Given the description of an element on the screen output the (x, y) to click on. 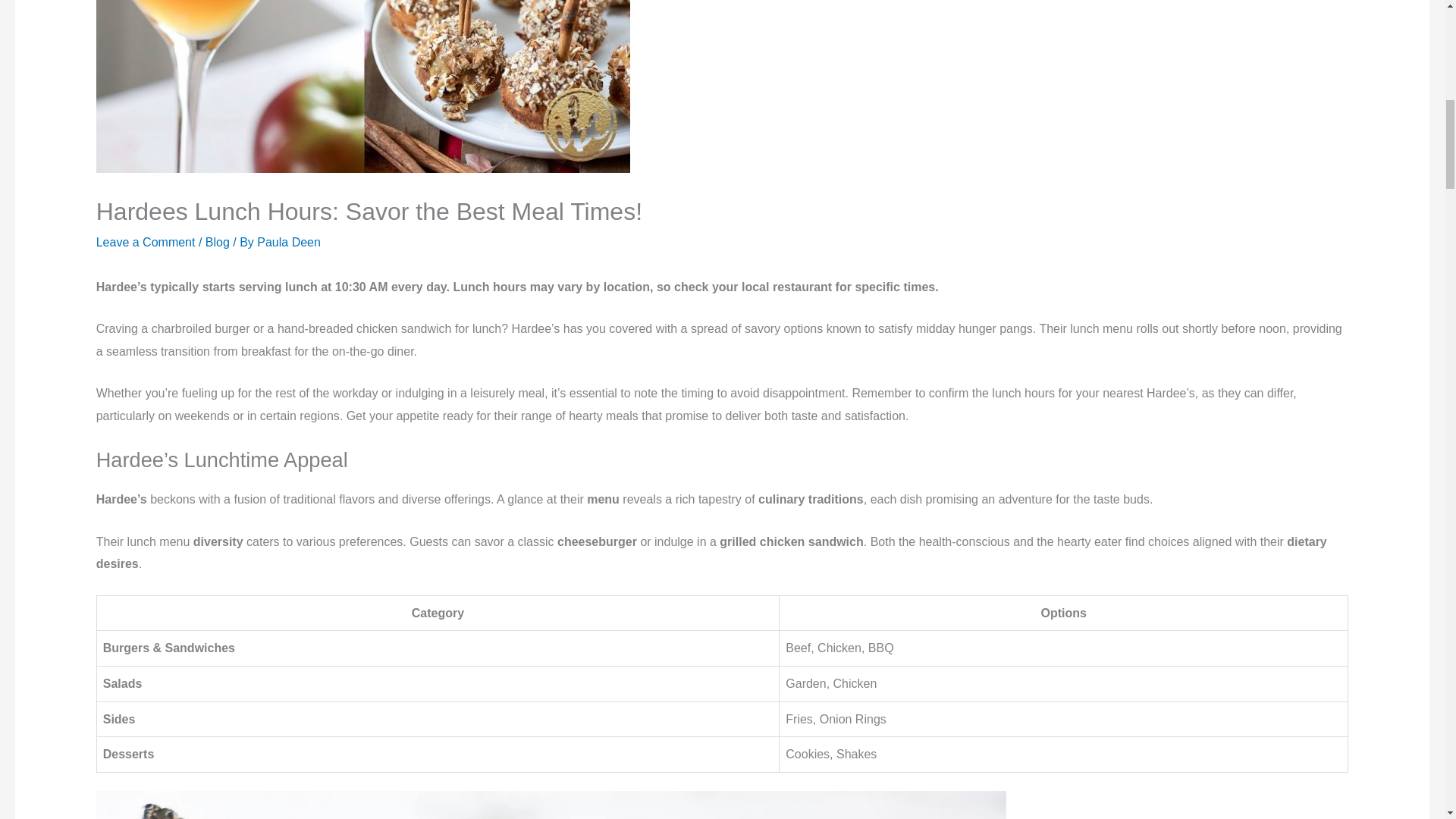
Leave a Comment (145, 241)
Blog (217, 241)
View all posts by Paula Deen (288, 241)
Paula Deen (288, 241)
